Given the description of an element on the screen output the (x, y) to click on. 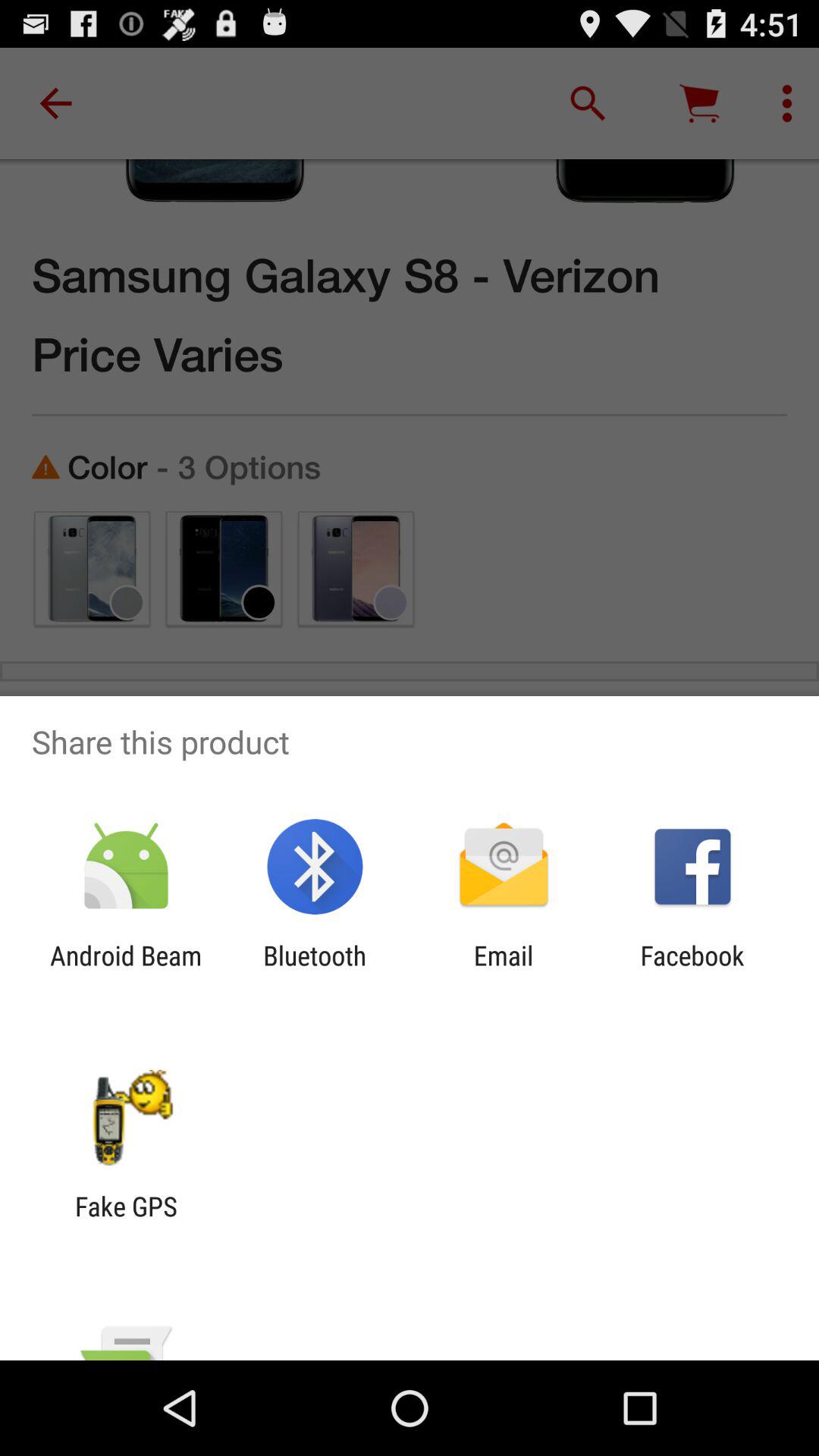
select item to the left of bluetooth item (125, 971)
